Given the description of an element on the screen output the (x, y) to click on. 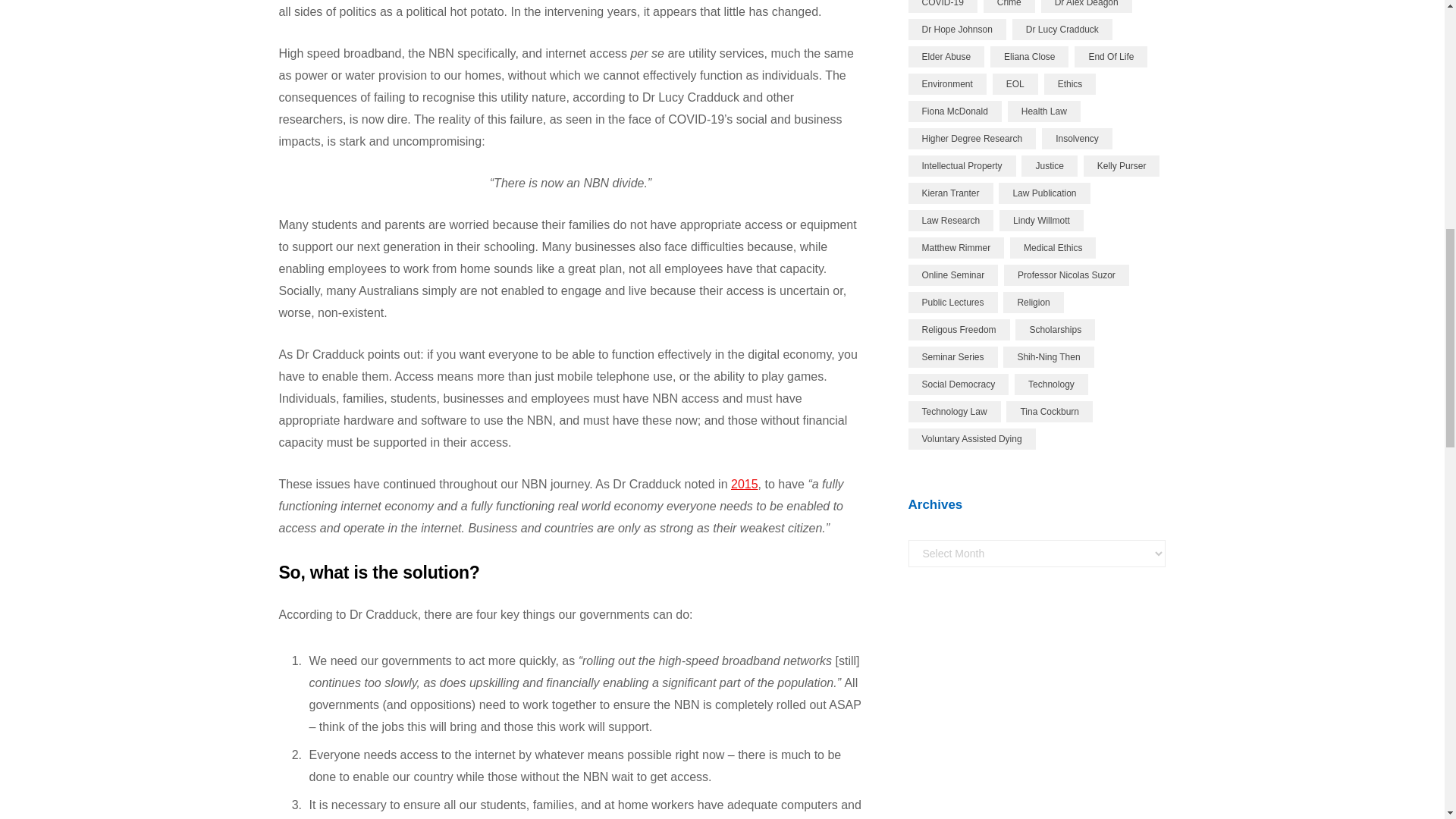
2015 (744, 483)
